Given the description of an element on the screen output the (x, y) to click on. 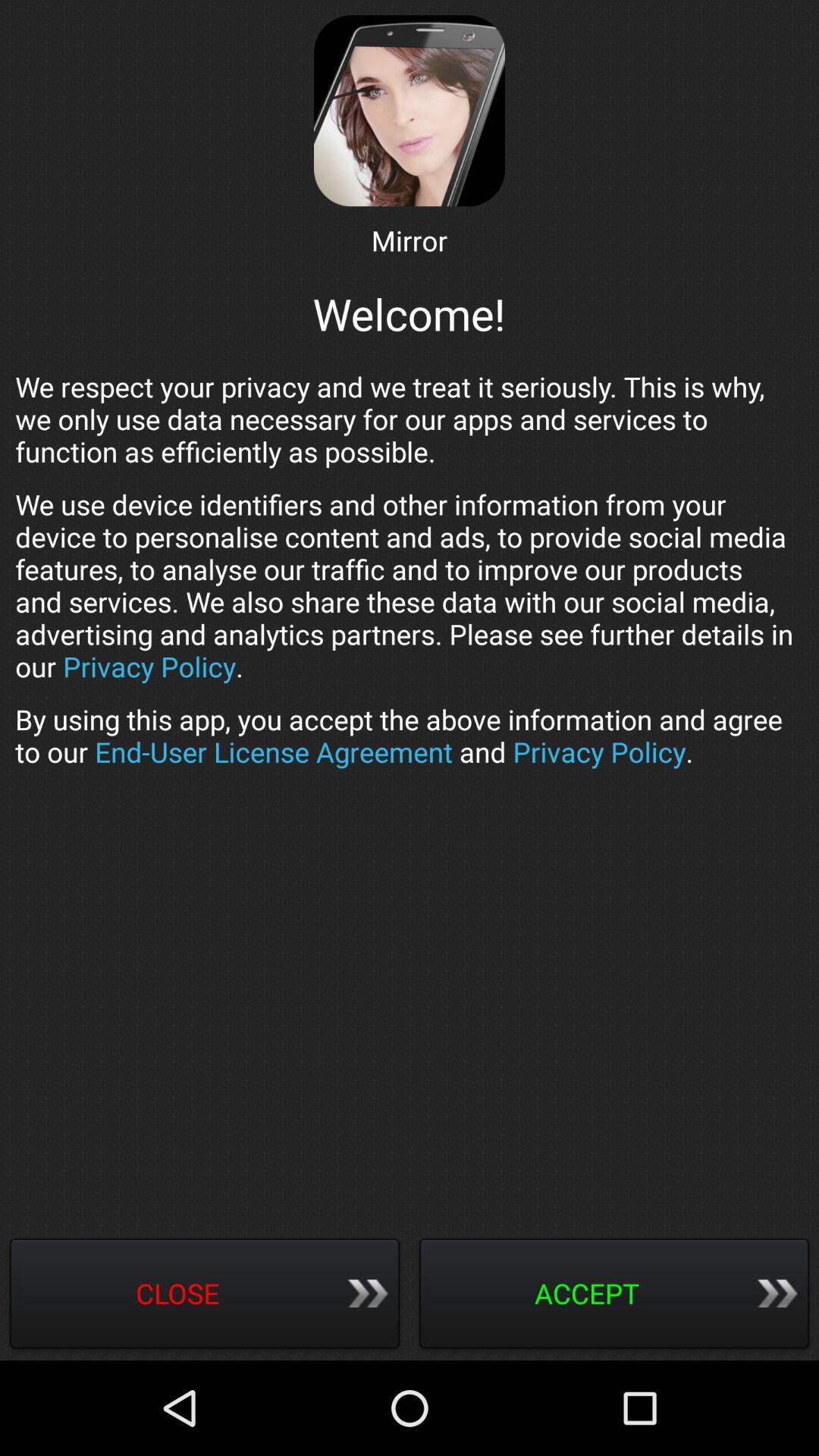
turn on icon below by using this (204, 1295)
